Given the description of an element on the screen output the (x, y) to click on. 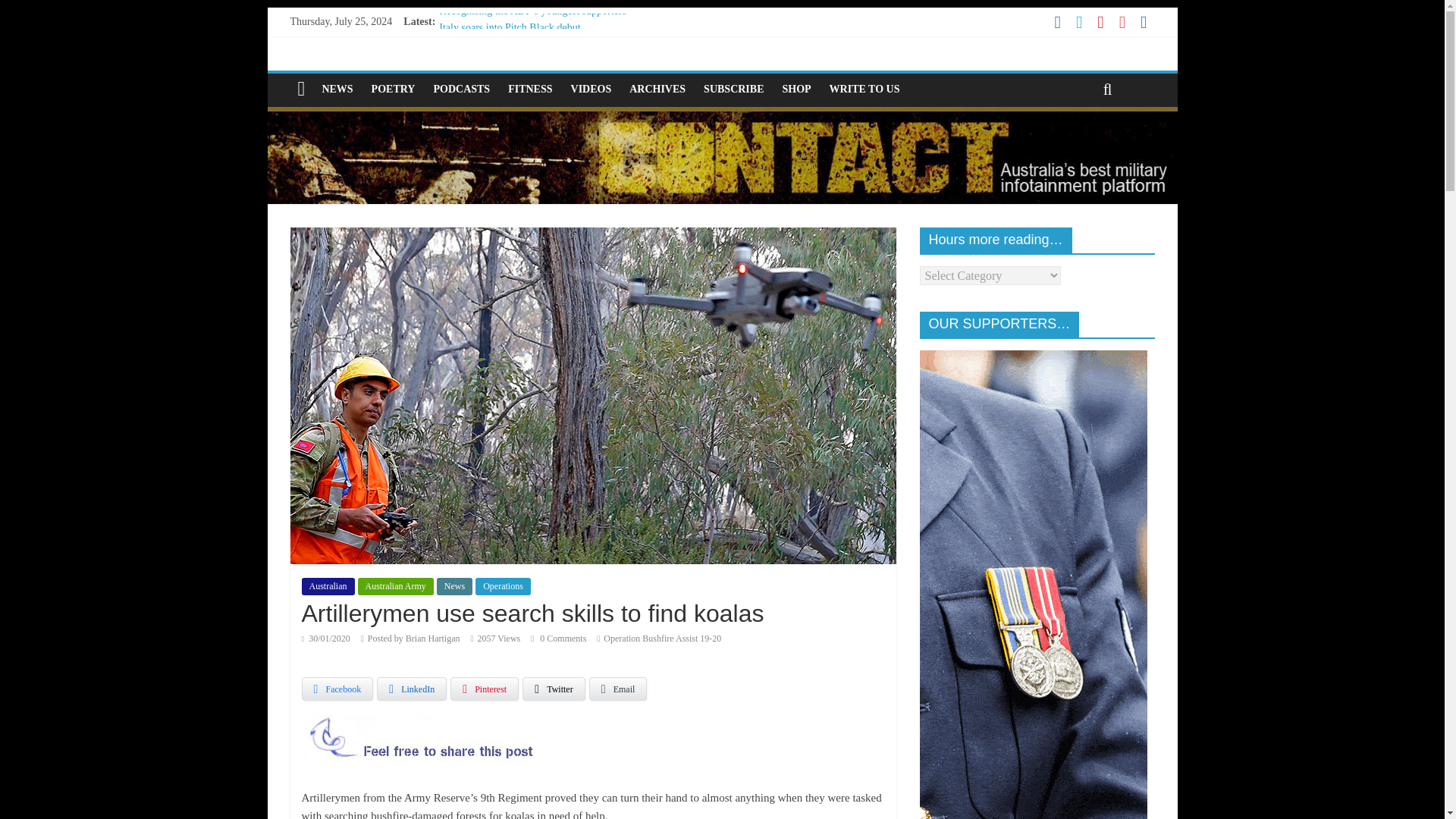
Share this article on Twitter (553, 689)
Share this article on Facebook (337, 689)
News (453, 586)
NEWS (337, 89)
0 Comments (558, 638)
Posted by Brian Hartigan (414, 638)
Operations (503, 586)
Email (618, 689)
6:03 pm (325, 638)
SHOP (796, 89)
ARCHIVES (657, 89)
SUBSCRIBE (733, 89)
Facebook (337, 689)
Twitter (553, 689)
Share this article on LinkedIn (411, 689)
